Given the description of an element on the screen output the (x, y) to click on. 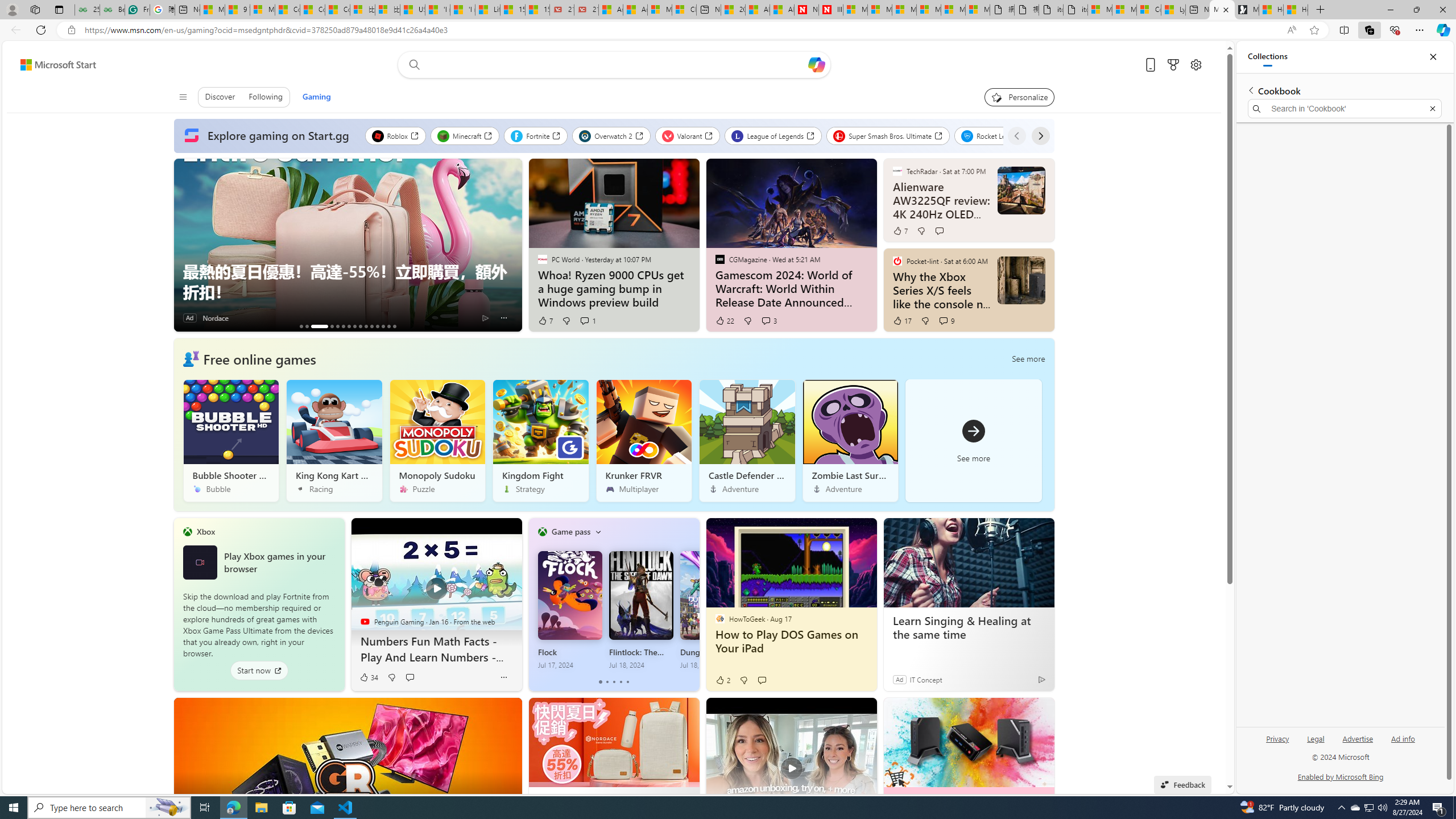
See more (973, 440)
View comments 1 Comment (584, 320)
Class: background-image-ntp-v2 (850, 422)
22 Like (724, 320)
21 Movies That Outdid the Books They Were Based On (585, 9)
Exit search (1432, 108)
PC World (542, 258)
Class: control icon-only (182, 97)
Microsoft Services Agreement (879, 9)
